Given the description of an element on the screen output the (x, y) to click on. 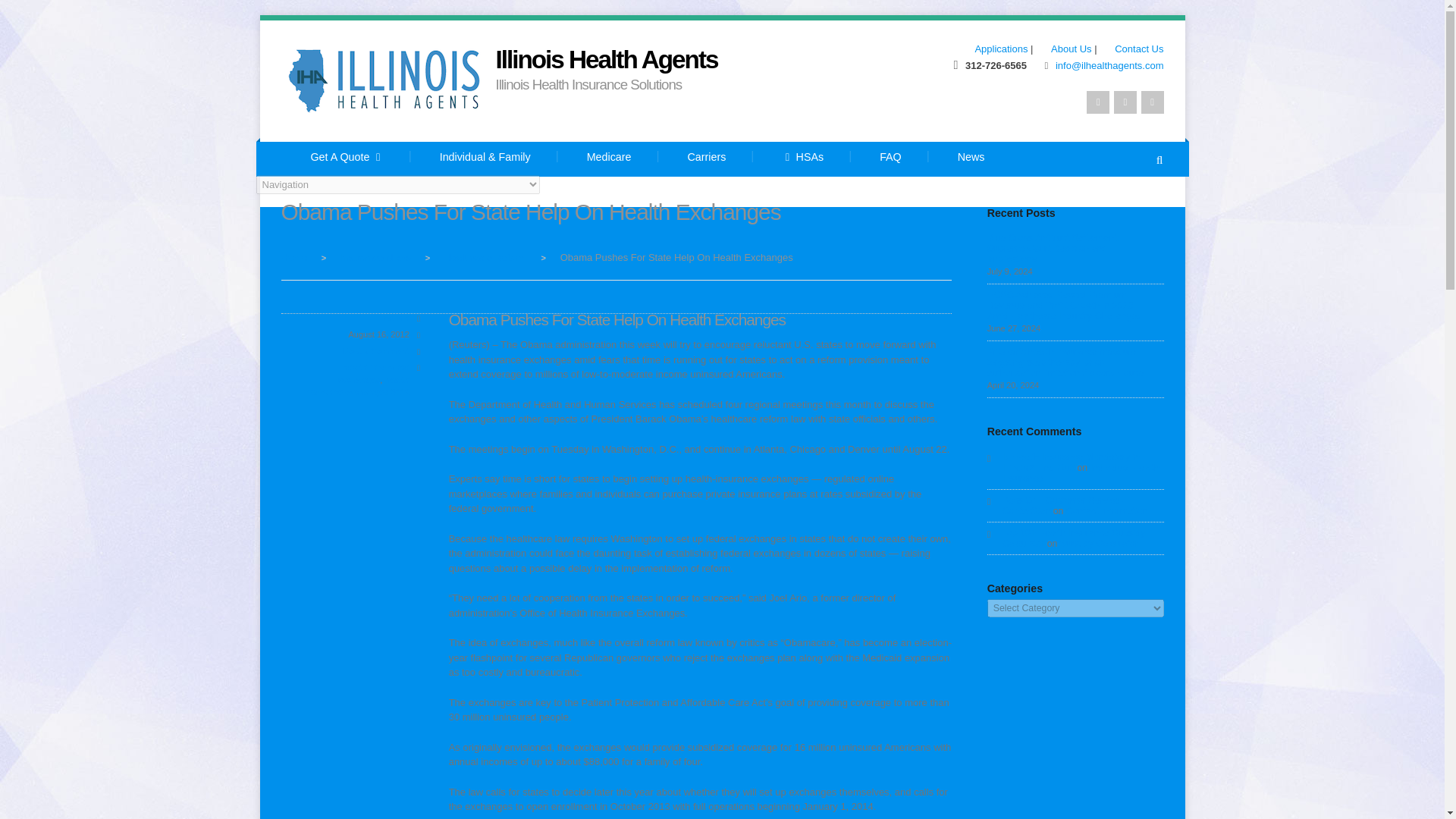
Facebook (1125, 101)
Illinois Health Agents (294, 256)
Contact Us (1131, 48)
Linkedin (1151, 101)
Insurance News (375, 256)
Medicare (609, 159)
Healthcare Reform (485, 256)
About Us (1062, 48)
Illinois Health Agents (606, 59)
Get A Quote (346, 159)
Carriers (706, 159)
Twitter (1097, 101)
Posts by Admin (396, 317)
Applications (993, 48)
